Given the description of an element on the screen output the (x, y) to click on. 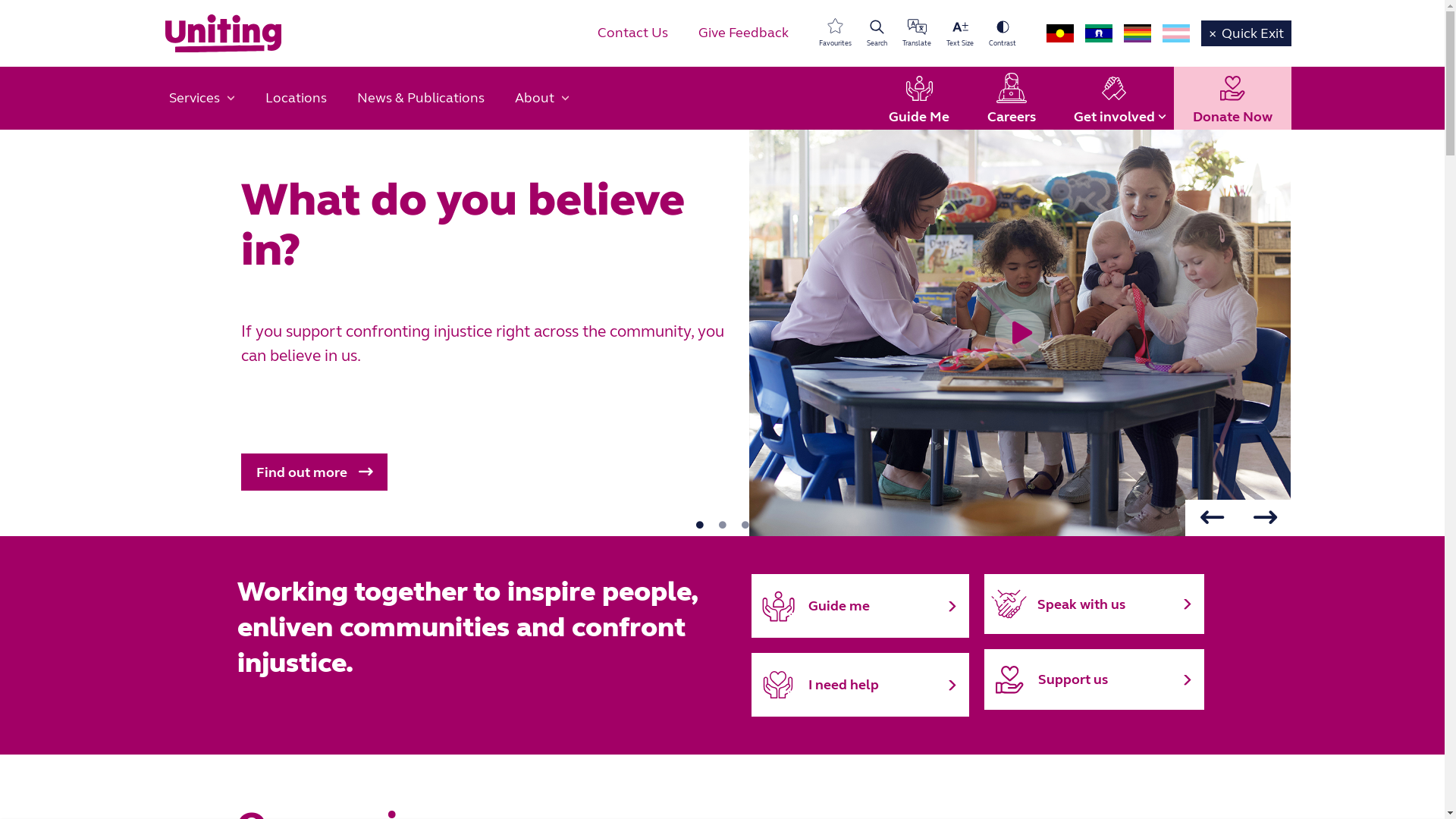
Support us Element type: text (1094, 679)
Text Size Element type: text (959, 32)
Search Element type: text (876, 32)
Translate Element type: text (916, 32)
Services Element type: text (201, 98)
Guide Me Element type: text (918, 98)
I need help Element type: text (859, 684)
Get involved Element type: text (1113, 98)
Careers Element type: text (1010, 98)
Favourites Element type: text (835, 33)
Locations Element type: text (296, 98)
News & Publications Element type: text (419, 98)
Give Feedback Element type: text (743, 32)
Contrast Element type: text (1002, 32)
Donate Now Element type: text (1232, 98)
Uniting Element type: text (223, 33)
Guide me Element type: text (859, 605)
Speak with us Element type: text (1094, 603)
Contact Us Element type: text (632, 32)
About Element type: text (540, 98)
Find out more Element type: text (314, 471)
